Given the description of an element on the screen output the (x, y) to click on. 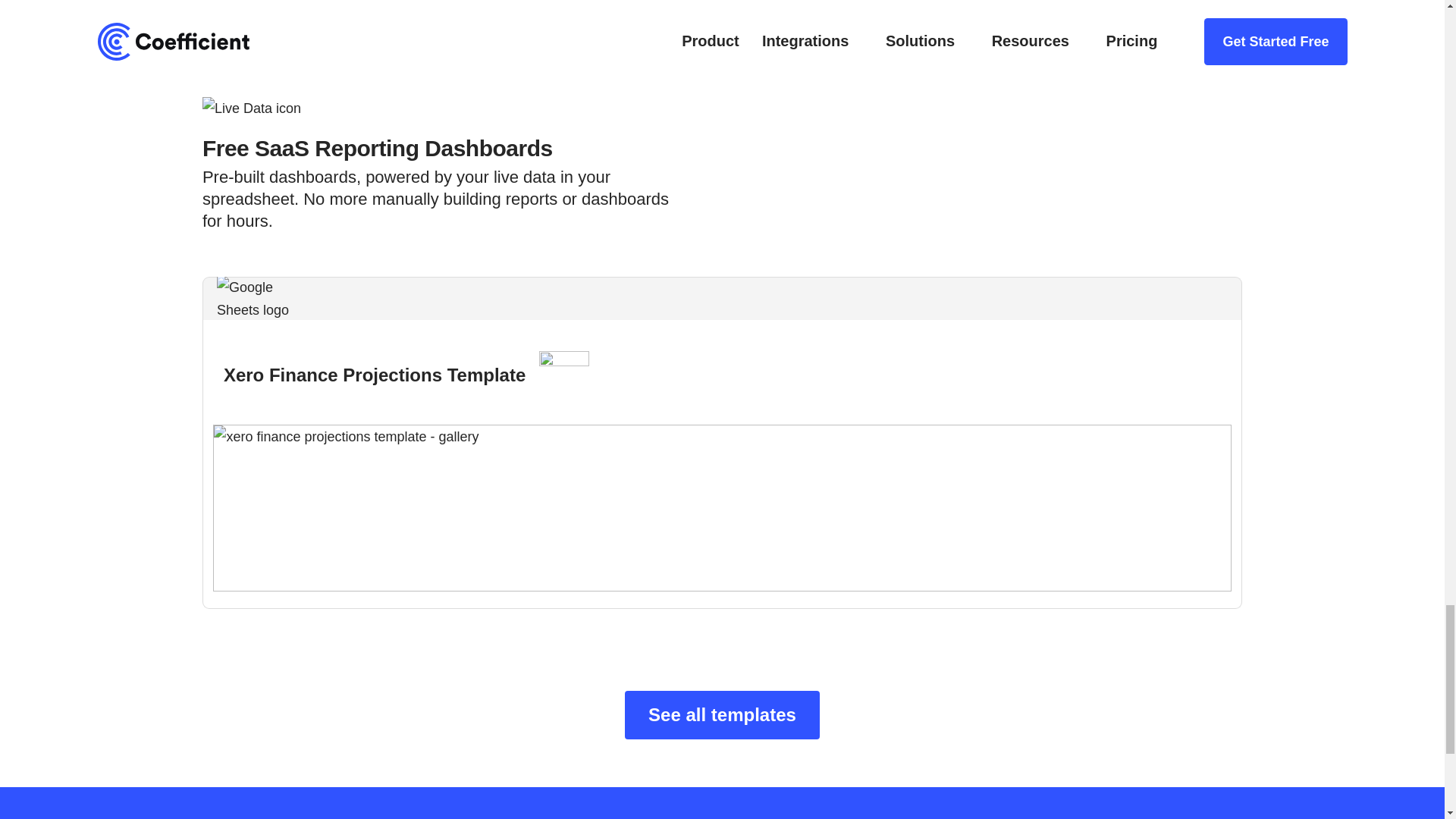
See all templates (721, 715)
